Given the description of an element on the screen output the (x, y) to click on. 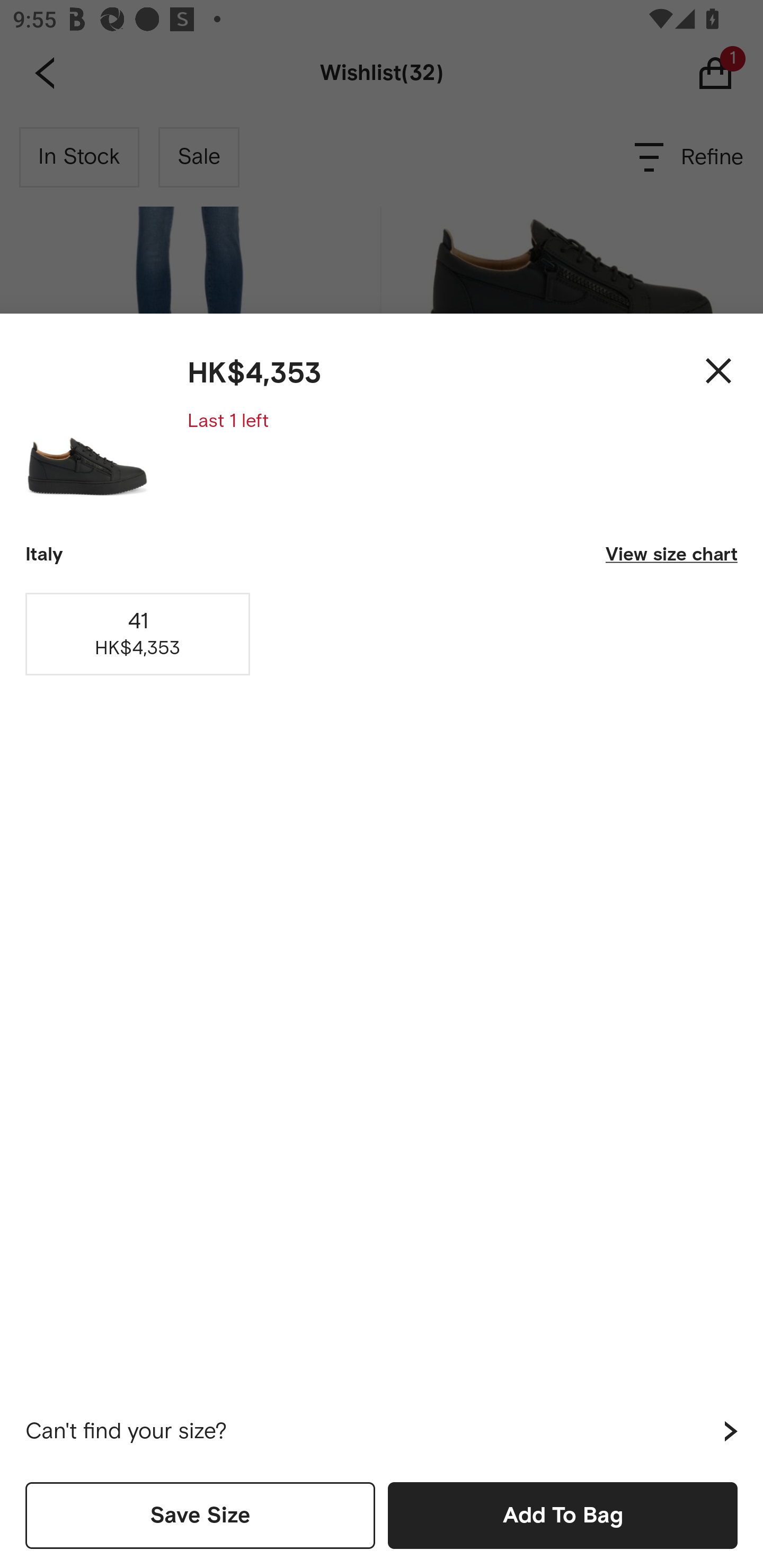
41 HK$4,353 (137, 633)
Can't find your size? (381, 1431)
Save Size (200, 1515)
Add To Bag (562, 1515)
